Given the description of an element on the screen output the (x, y) to click on. 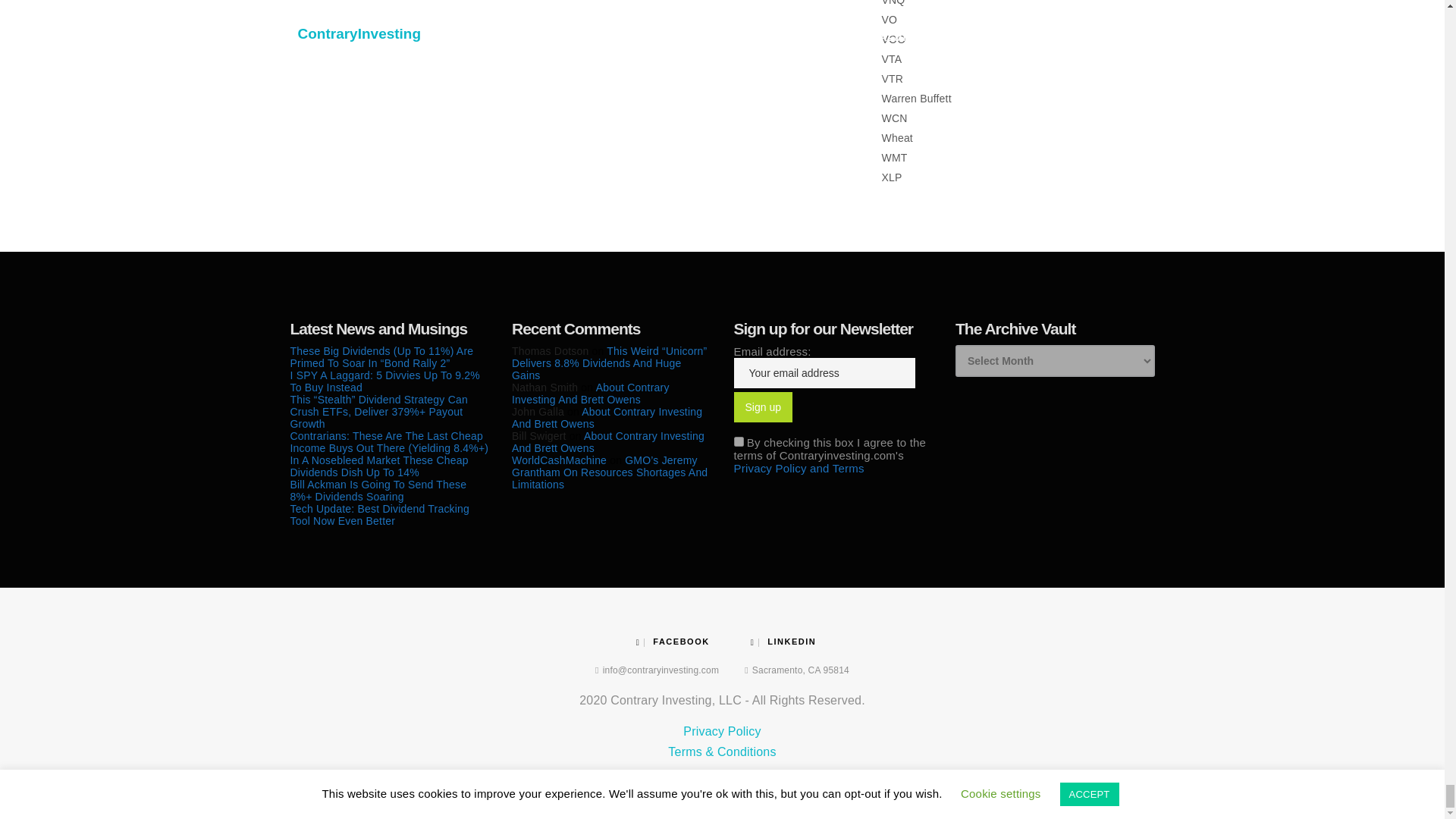
Sign up (762, 407)
1 (738, 441)
